Given the description of an element on the screen output the (x, y) to click on. 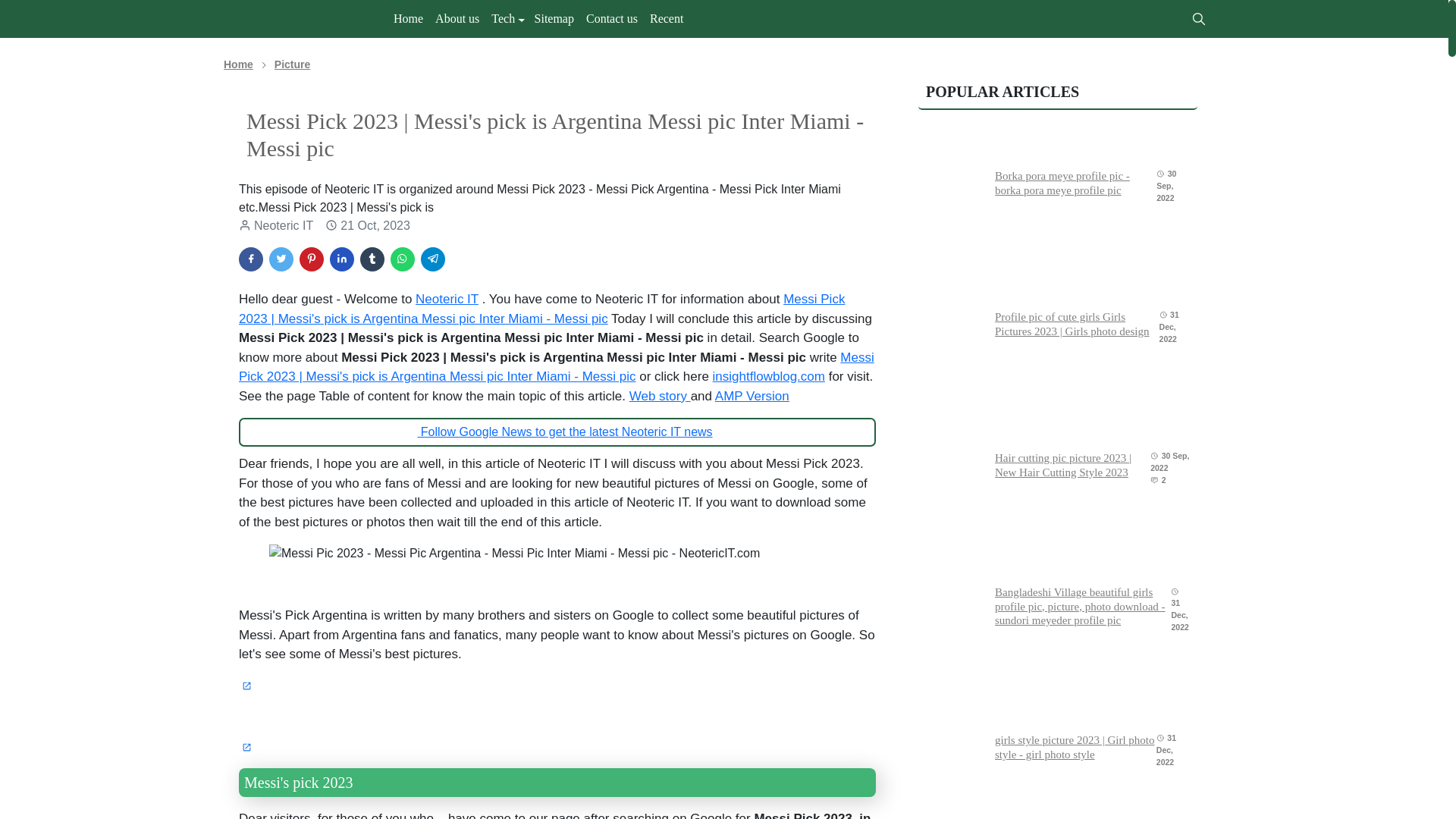
Borka pora meye profile pic - borka pora meye profile pic (1061, 182)
About us (456, 19)
Linkedin Share (341, 259)
Share to telegram (432, 259)
Neoteric IT (446, 298)
Contact us (611, 19)
Home (408, 19)
Sitemap (553, 19)
Facebook Share (250, 259)
